Given the description of an element on the screen output the (x, y) to click on. 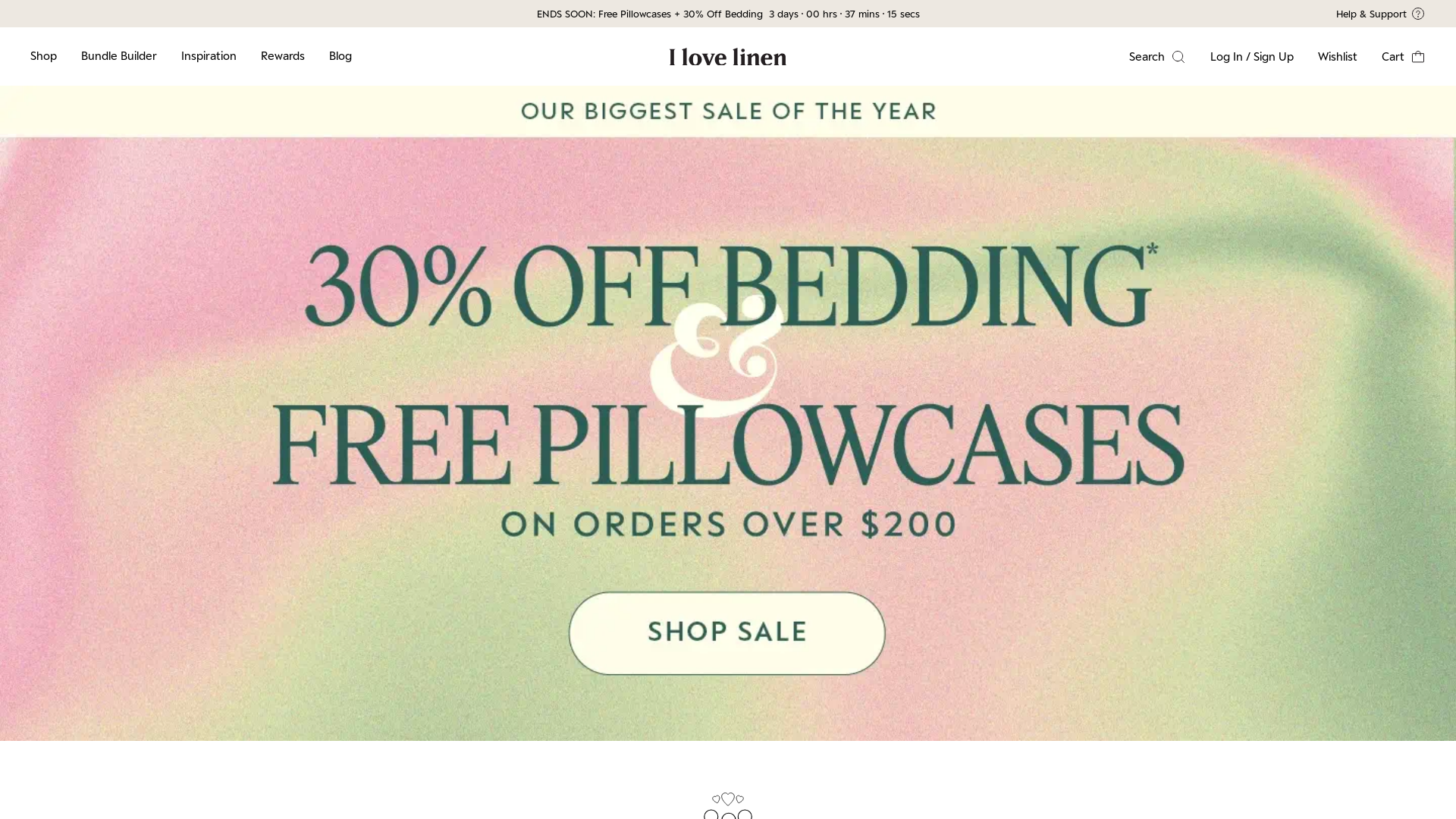
Inspiration Element type: text (208, 56)
Home Element type: text (727, 56)
Wishlist Element type: text (1337, 56)
Bundle Builder Element type: text (118, 56)
Shop Element type: text (43, 56)
Rewards Element type: text (282, 56)
Log In / Sign Up Element type: text (1251, 56)
Cart Element type: text (1403, 56)
Blog Element type: text (340, 56)
Help & Support Element type: text (1172, 13)
Search Element type: text (1157, 56)
